Given the description of an element on the screen output the (x, y) to click on. 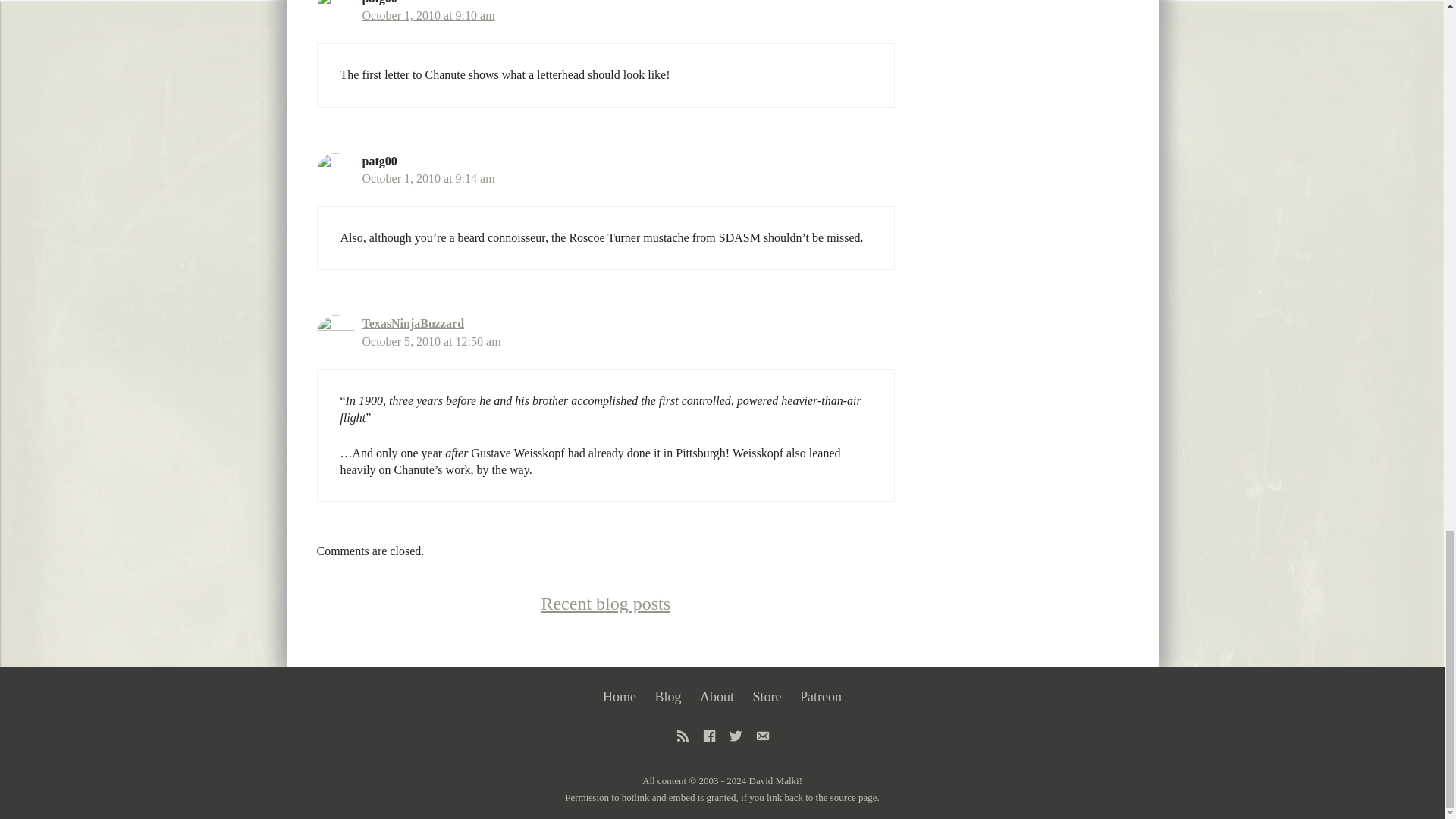
TexasNinjaBuzzard (413, 323)
October 1, 2010 at 9:10 am (428, 15)
Recent blog posts (604, 603)
October 5, 2010 at 12:50 am (431, 341)
October 1, 2010 at 9:14 am (428, 178)
Scroll back to top (1394, 9)
